Given the description of an element on the screen output the (x, y) to click on. 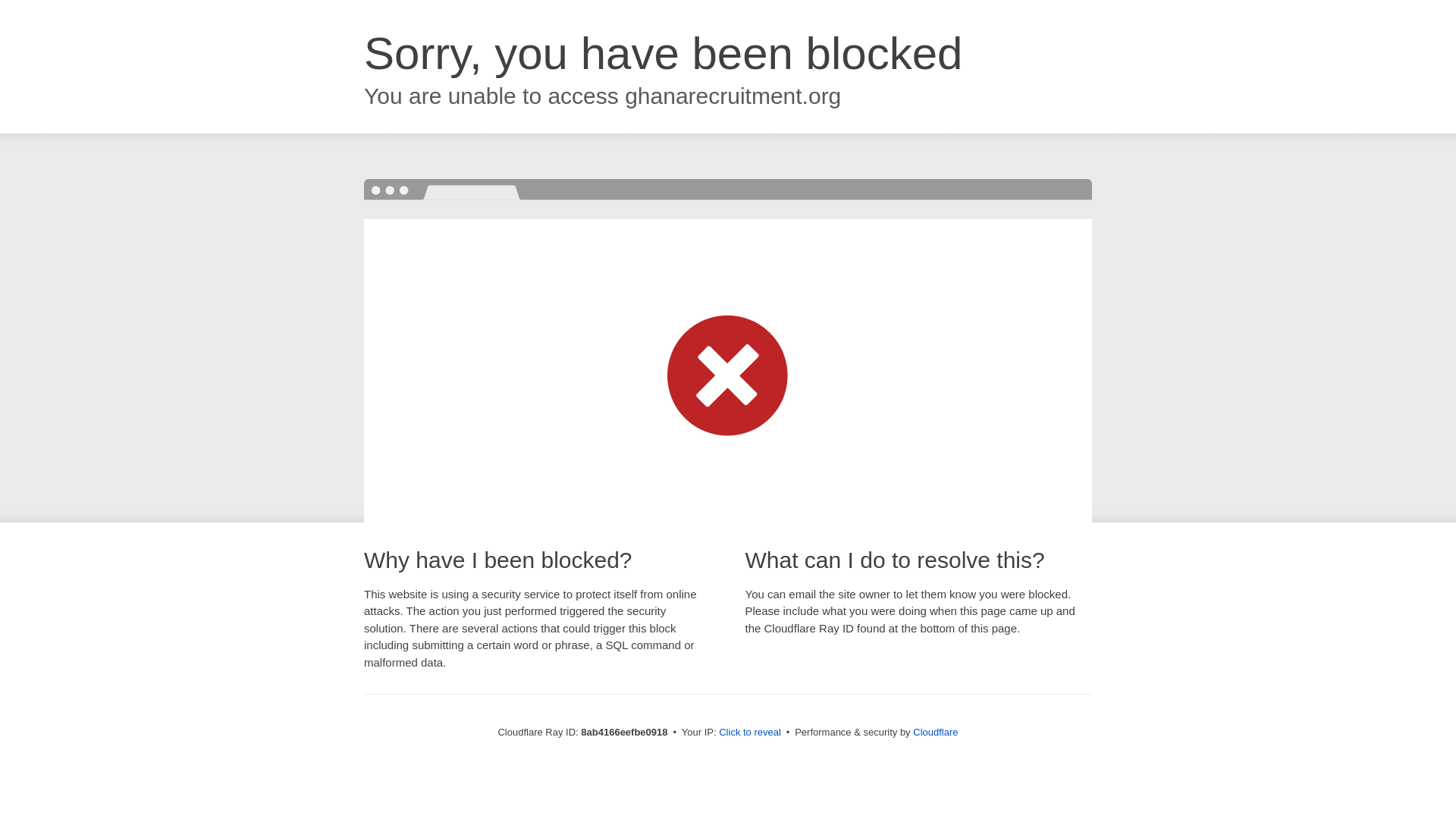
Click to reveal (749, 732)
Cloudflare (935, 731)
